Given the description of an element on the screen output the (x, y) to click on. 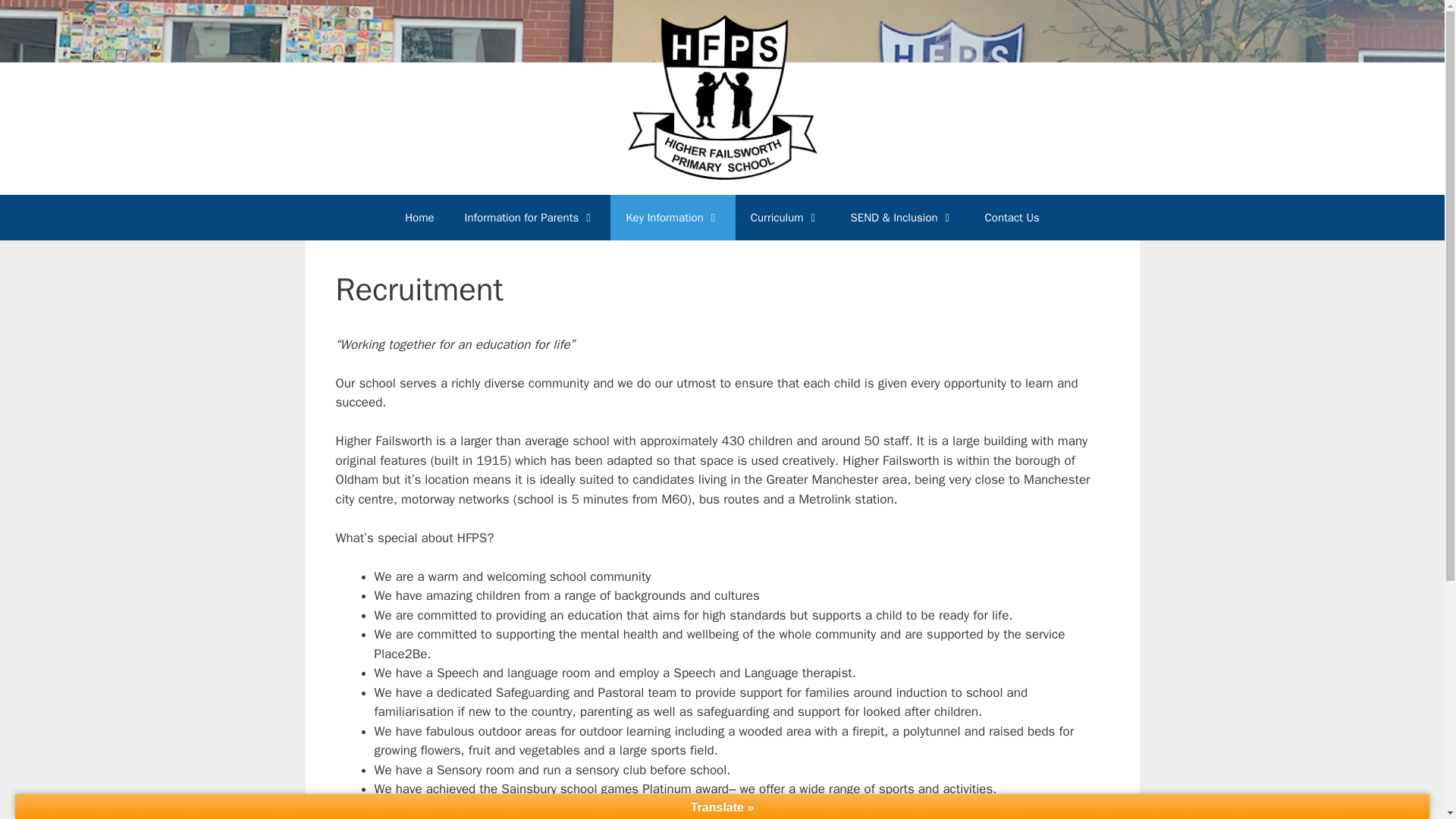
Key Information (672, 217)
Home (419, 217)
Curriculum (785, 217)
Information for Parents (530, 217)
